Given the description of an element on the screen output the (x, y) to click on. 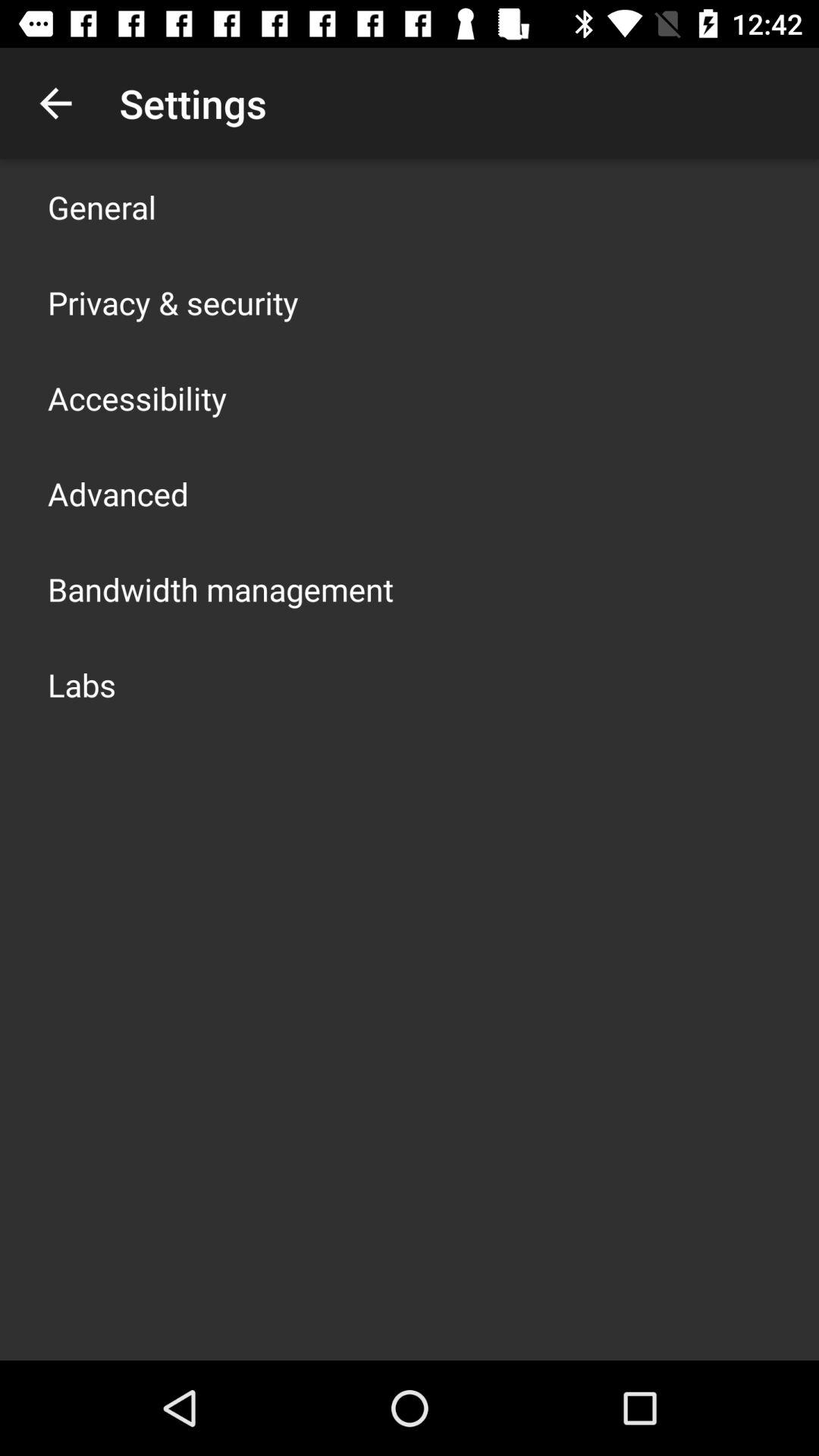
choose item to the left of settings app (55, 103)
